Given the description of an element on the screen output the (x, y) to click on. 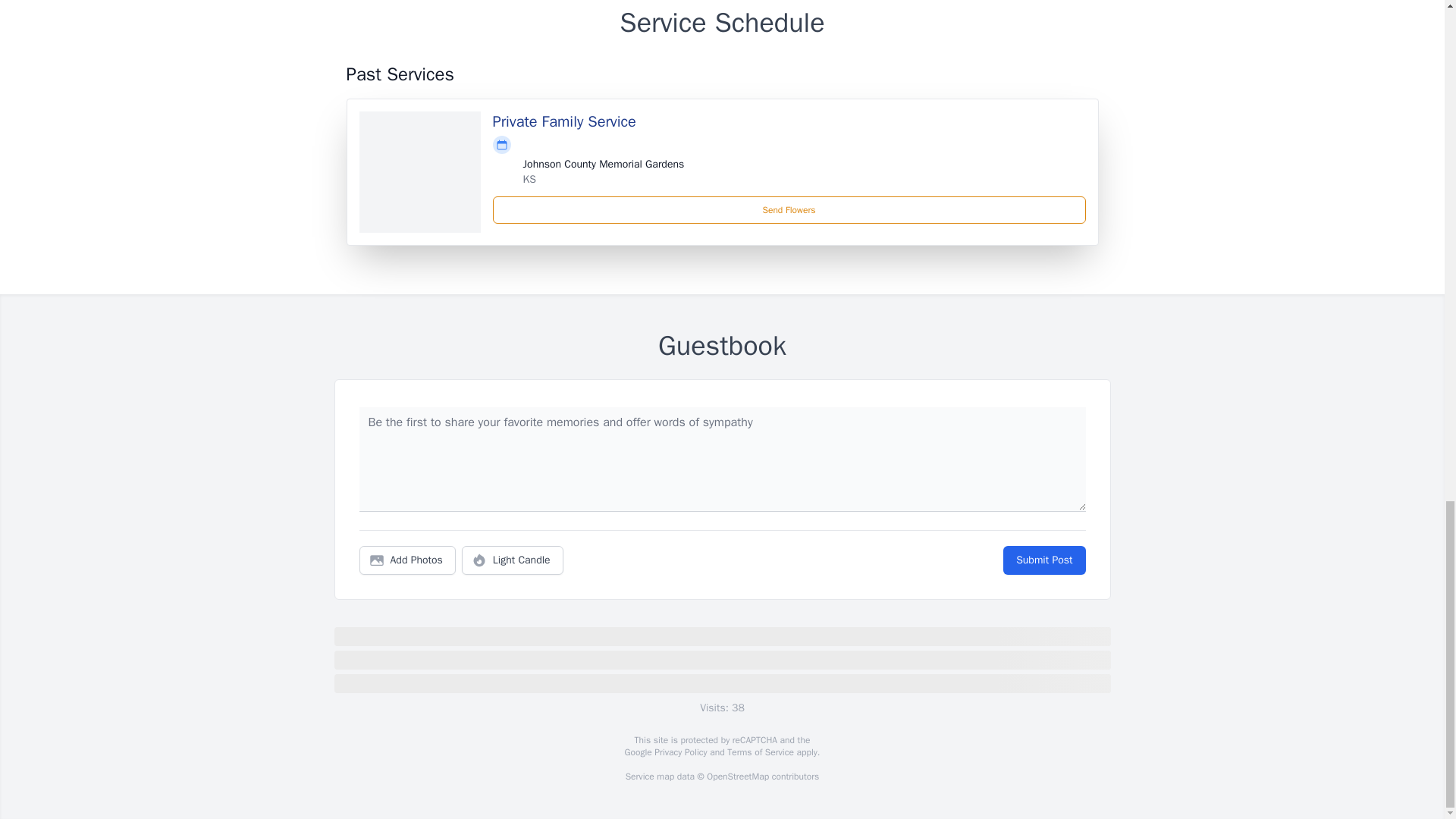
Submit Post (1043, 560)
Add Photos (407, 560)
Send Flowers (789, 209)
Terms of Service (759, 752)
KS (528, 178)
Privacy Policy (679, 752)
Light Candle (512, 560)
OpenStreetMap (737, 776)
